Given the description of an element on the screen output the (x, y) to click on. 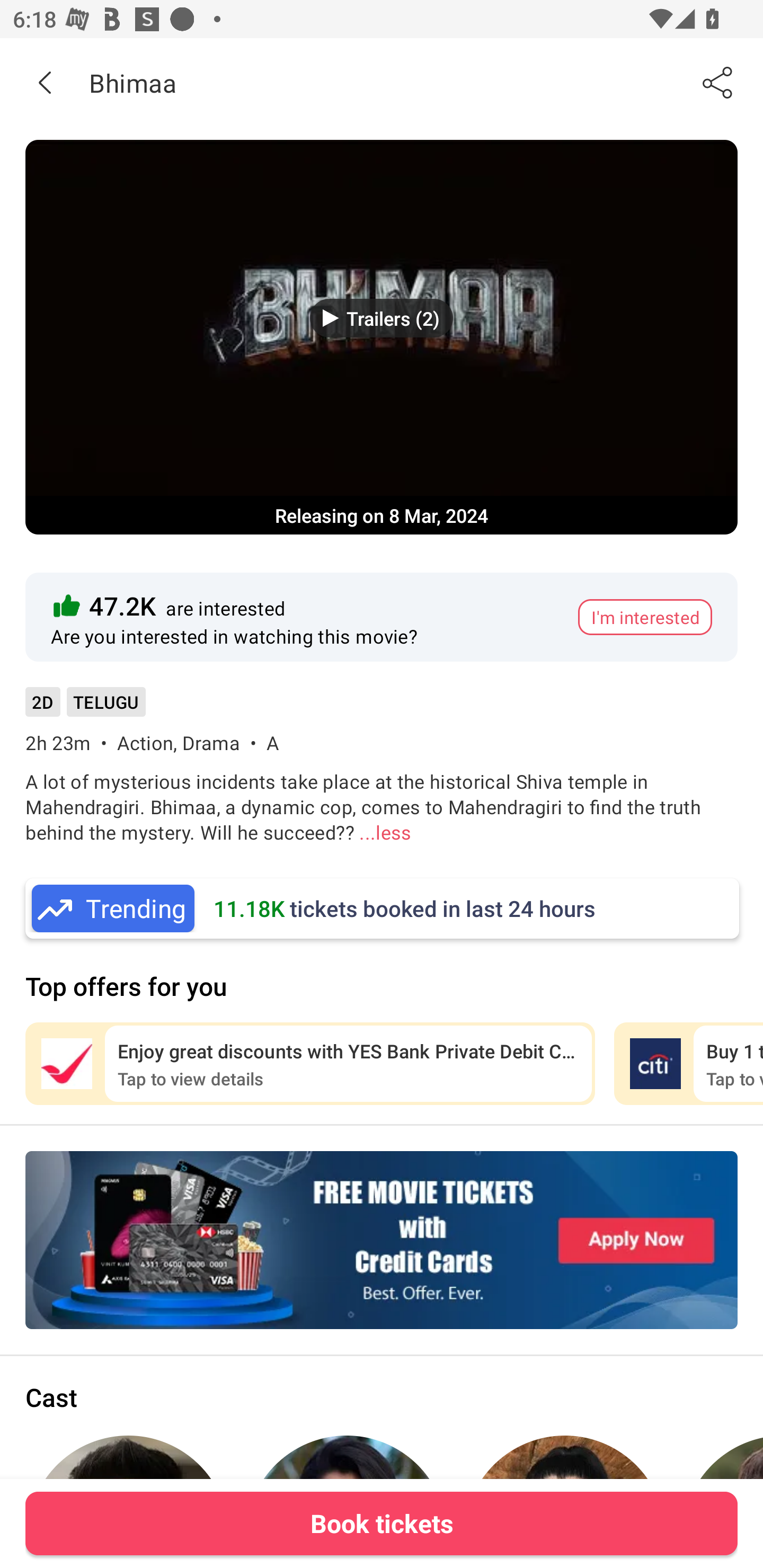
Back (44, 82)
Share (718, 82)
Movie Banner Trailers (2) Releasing on 8 Mar, 2024 (381, 336)
Trailers (2) (381, 318)
I'm interested (644, 616)
2D TELUGU (85, 707)
Book tickets (381, 1523)
